Given the description of an element on the screen output the (x, y) to click on. 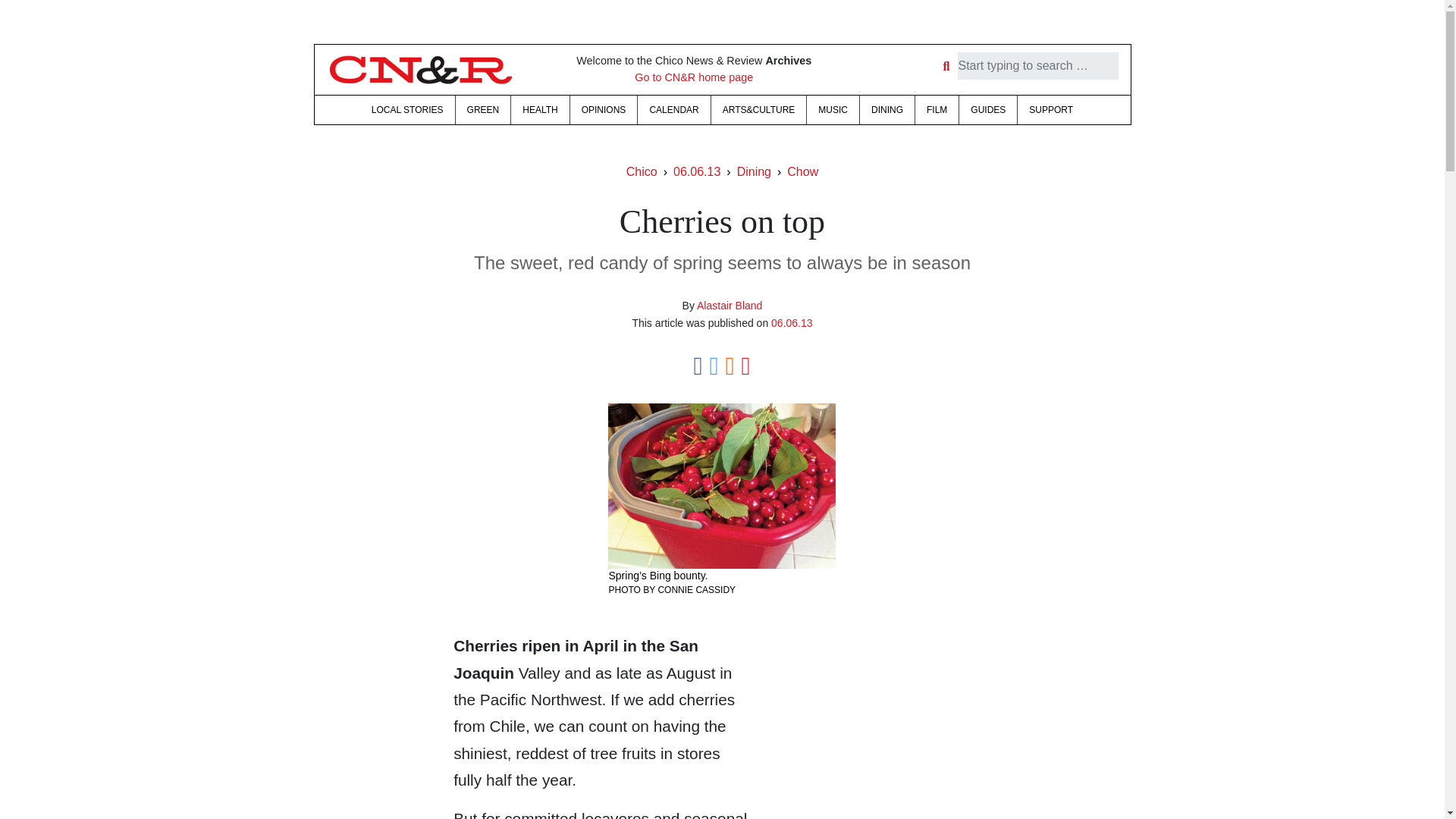
Alastair Bland (729, 305)
MUSIC (832, 109)
HEALTH (540, 109)
DINING (887, 109)
OPINIONS (603, 109)
Dining (753, 171)
GREEN (483, 109)
CALENDAR (673, 109)
06.06.13 (791, 322)
LOCAL STORIES (406, 109)
06.06.13 (696, 171)
Chow (802, 171)
FILM (936, 109)
SUPPORT (1050, 109)
GUIDES (987, 109)
